Given the description of an element on the screen output the (x, y) to click on. 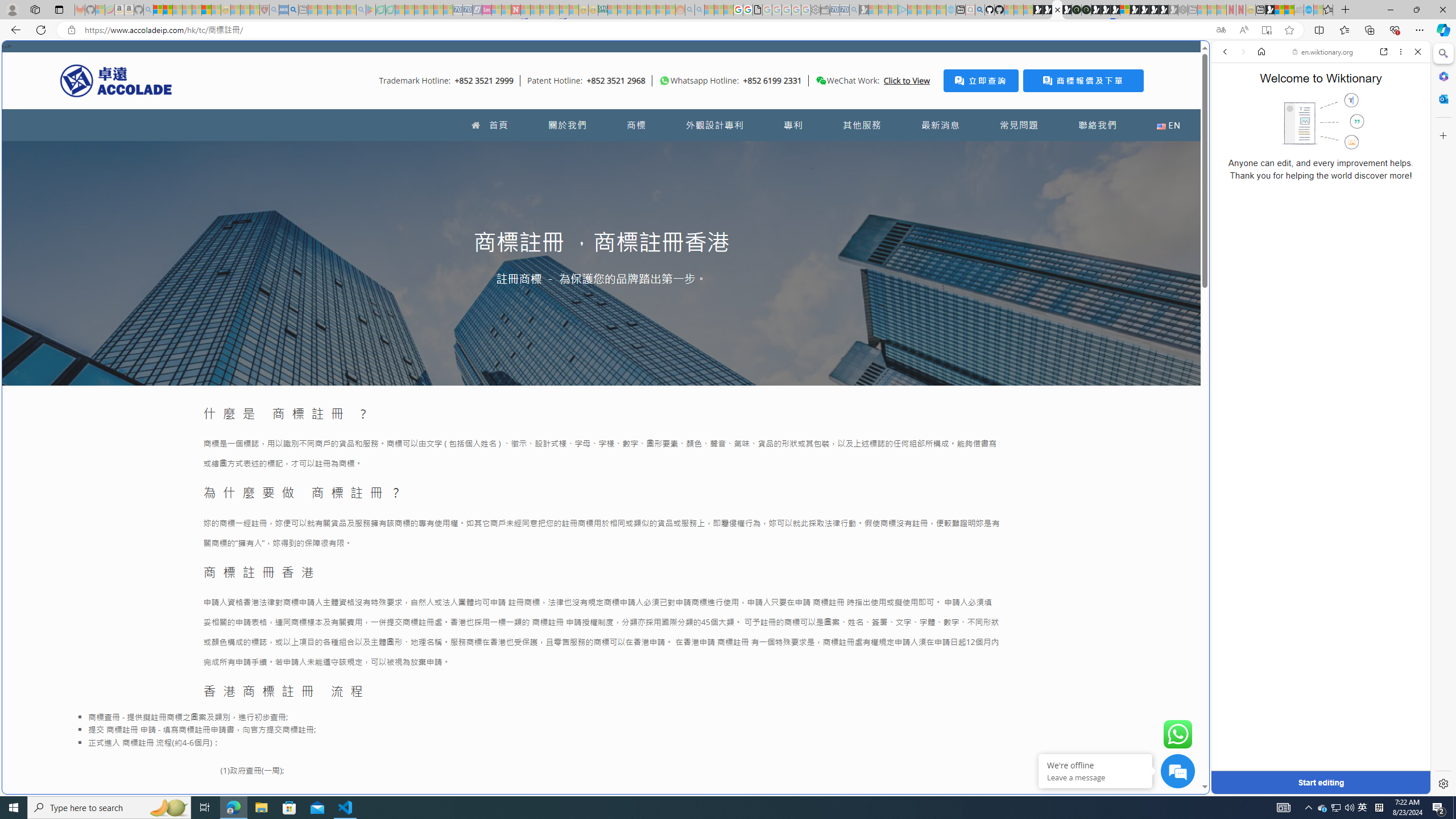
World - MSN (1279, 9)
Home | Sky Blue Bikes - Sky Blue Bikes - Sleeping (950, 9)
New Report Confirms 2023 Was Record Hot | Watch - Sleeping (196, 9)
Pets - MSN - Sleeping (340, 9)
Close split screen (1208, 57)
